Given the description of an element on the screen output the (x, y) to click on. 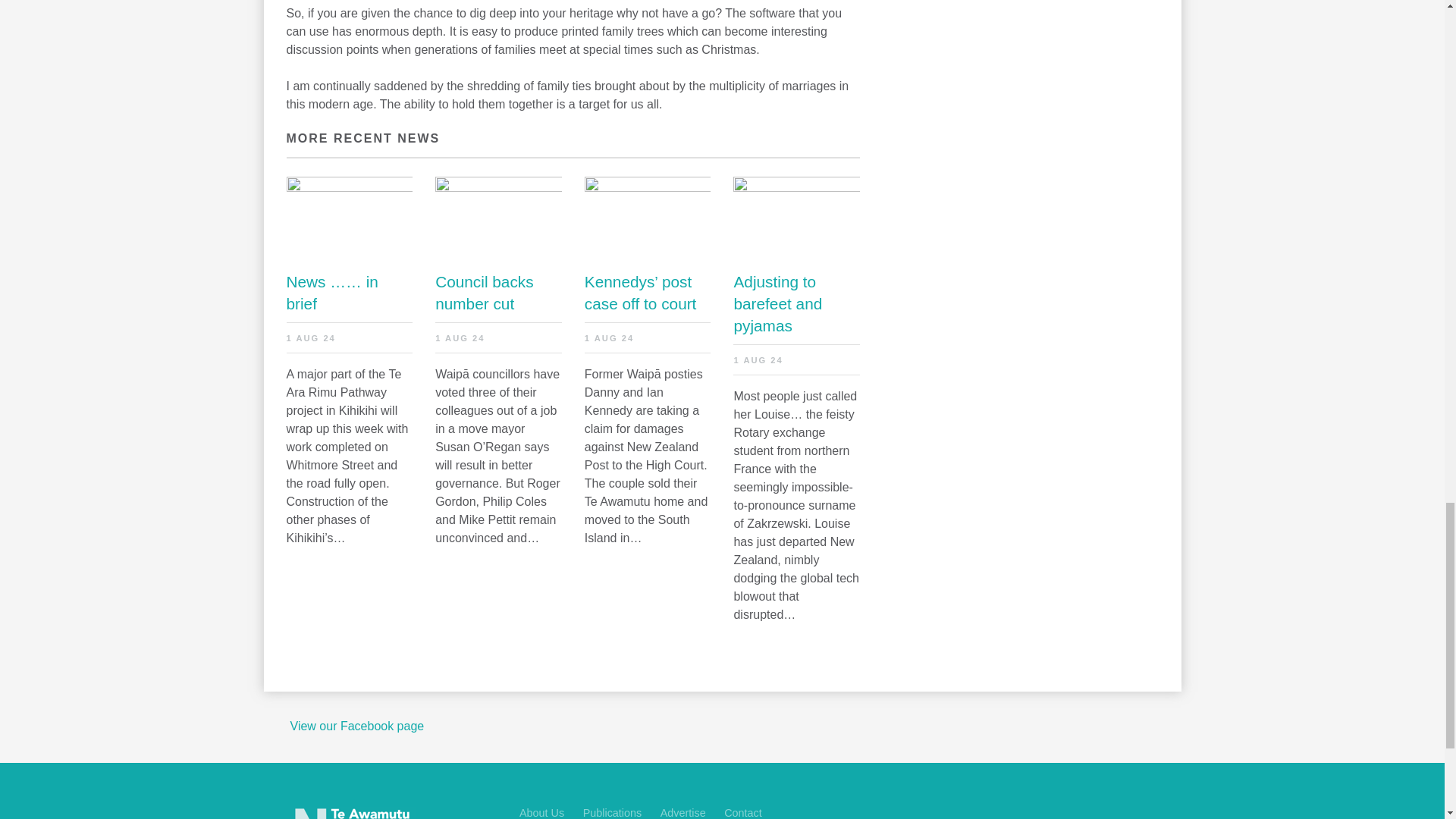
About Us (541, 812)
Publications (612, 812)
Contact (742, 812)
Adjusting to barefeet and pyjamas (796, 303)
Advertise (683, 812)
View our Facebook page (356, 725)
Council backs number cut (498, 292)
